Given the description of an element on the screen output the (x, y) to click on. 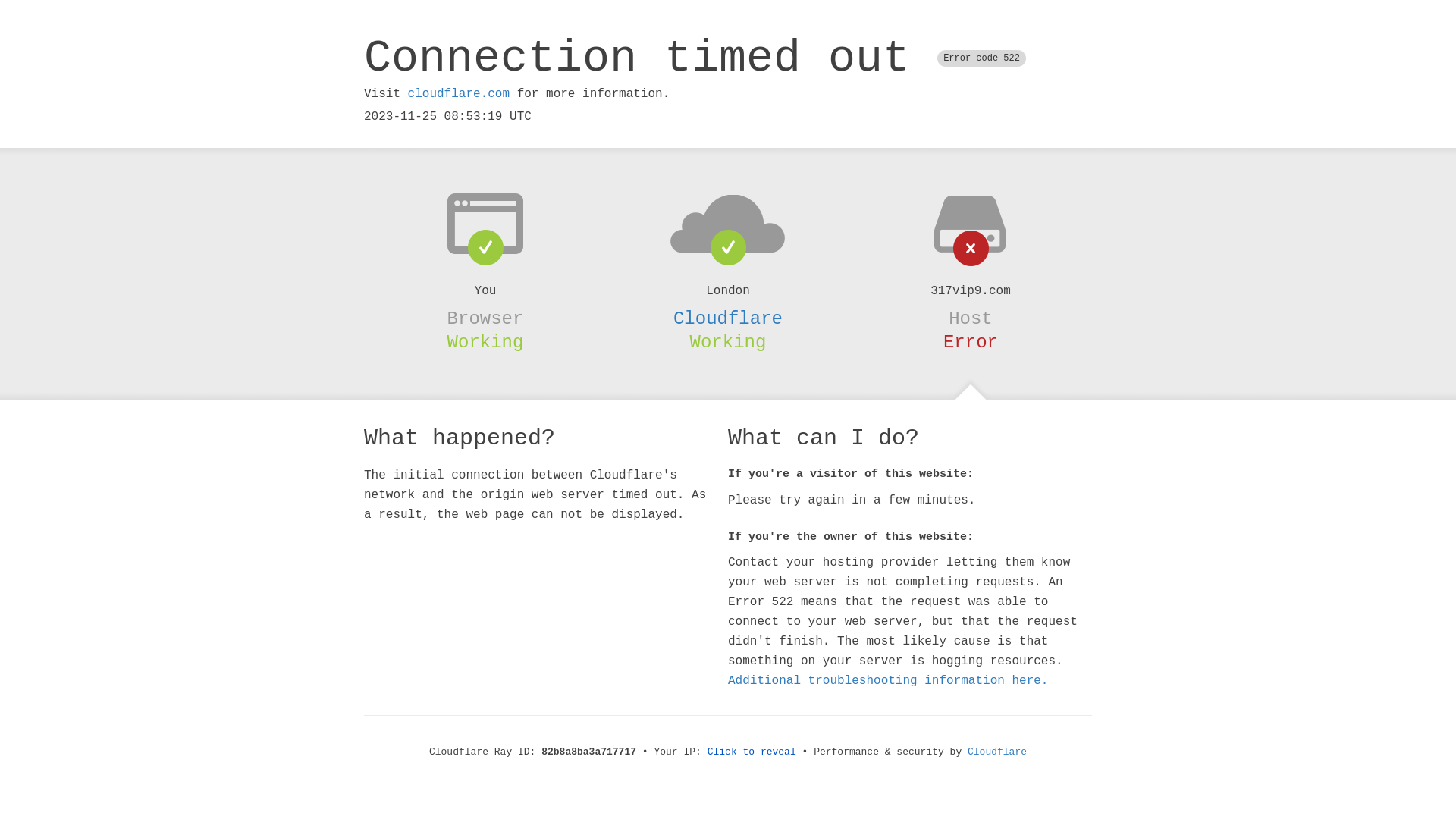
Click to reveal Element type: text (751, 751)
Additional troubleshooting information here. Element type: text (888, 680)
cloudflare.com Element type: text (458, 93)
Cloudflare Element type: text (727, 318)
Cloudflare Element type: text (996, 751)
